Given the description of an element on the screen output the (x, y) to click on. 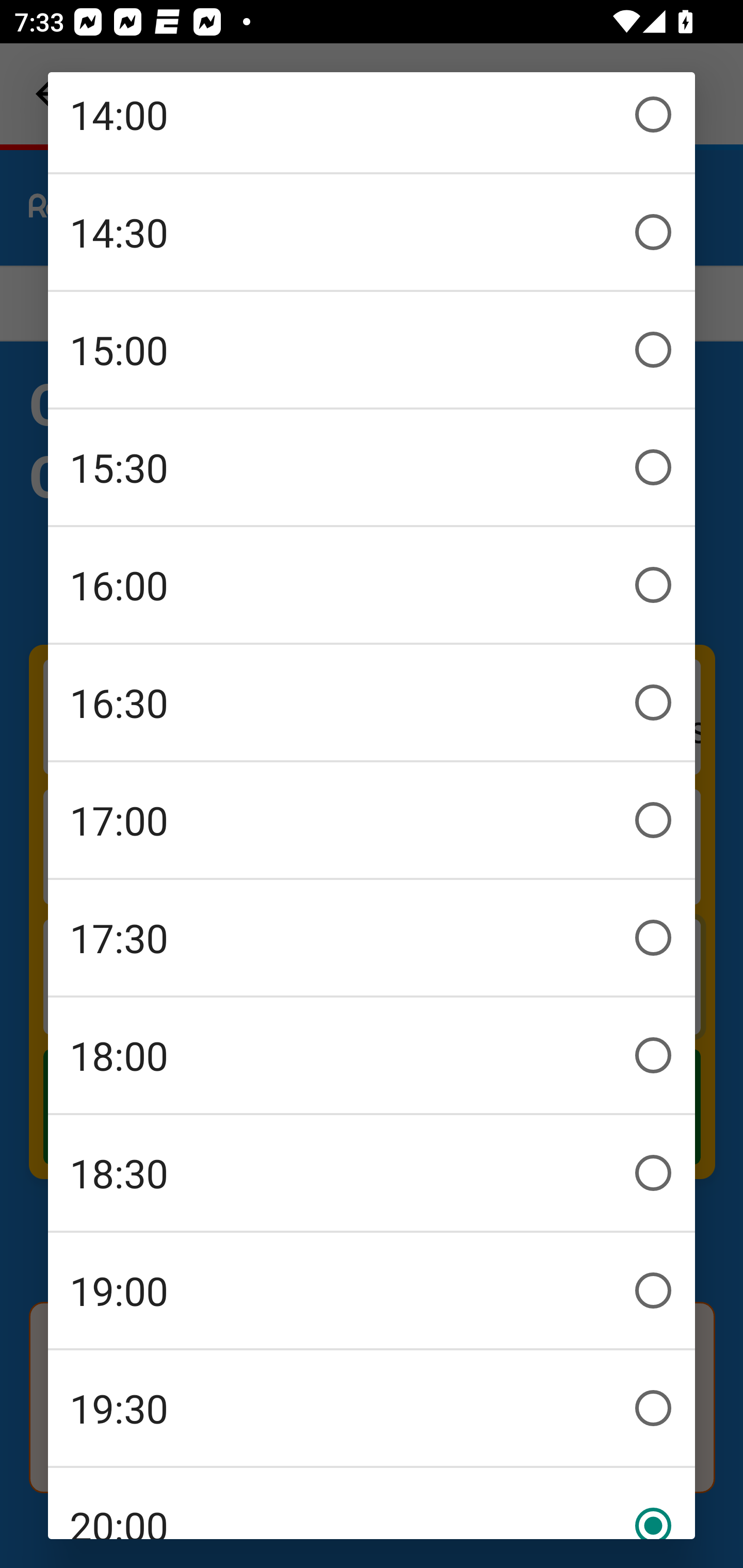
14:00 (371, 122)
14:30 (371, 232)
15:00 (371, 349)
15:30 (371, 467)
16:00 (371, 584)
16:30 (371, 702)
17:00 (371, 820)
17:30 (371, 937)
18:00 (371, 1055)
18:30 (371, 1172)
19:00 (371, 1290)
19:30 (371, 1408)
20:00 (371, 1503)
